Given the description of an element on the screen output the (x, y) to click on. 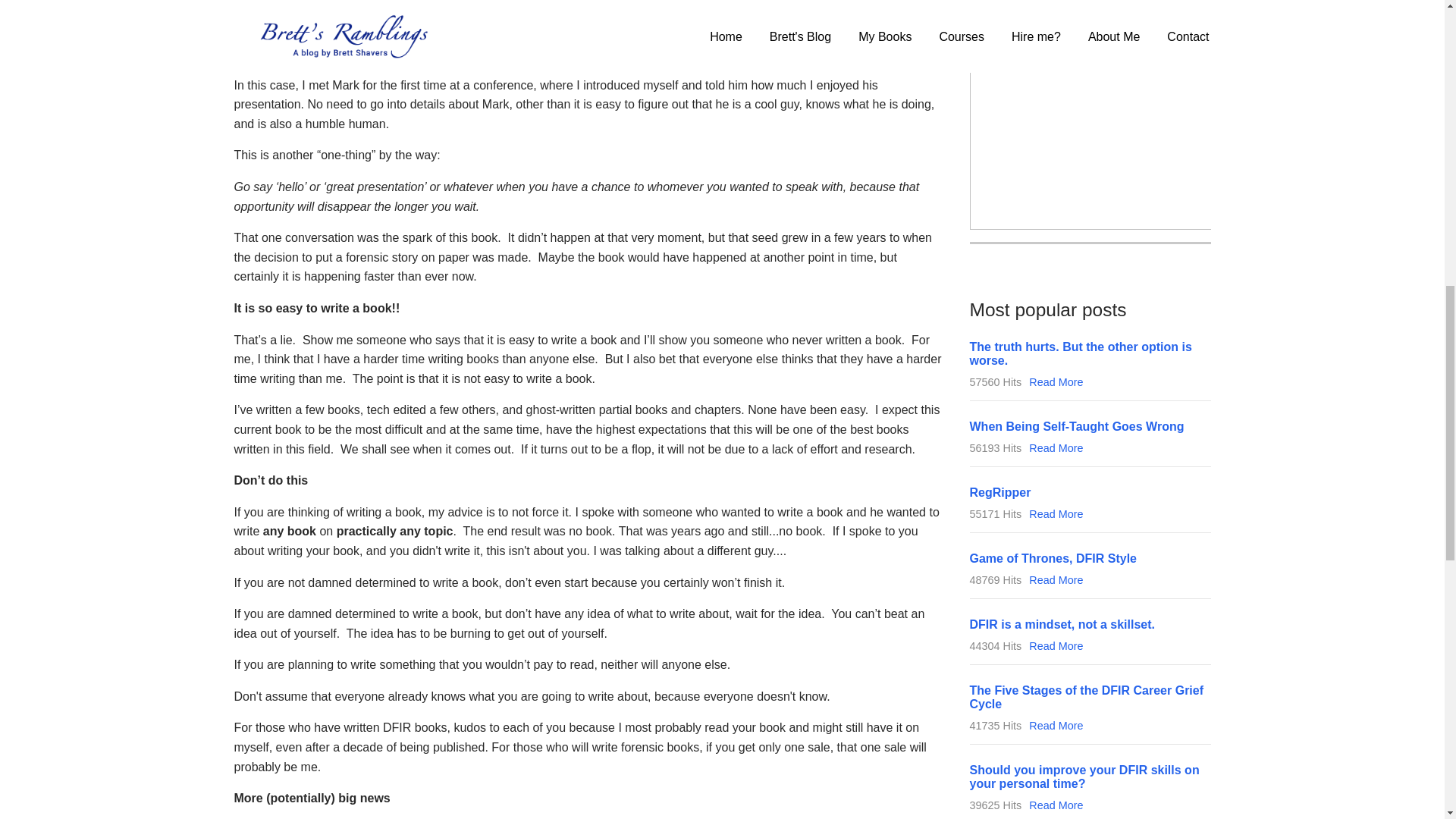
The truth hurts.  But the other option is worse. (1080, 353)
RegRipper (999, 492)
Read More (1056, 448)
Read More (1056, 381)
DFIR is a mindset, not a skillset. (1061, 624)
The truth hurts. But the other option is worse. (1080, 353)
Read More (1056, 513)
RegRipper (999, 492)
When Being Self-Taught Goes Wrong (1076, 426)
Should you improve your DFIR skills on your personal time? (1083, 776)
